Given the description of an element on the screen output the (x, y) to click on. 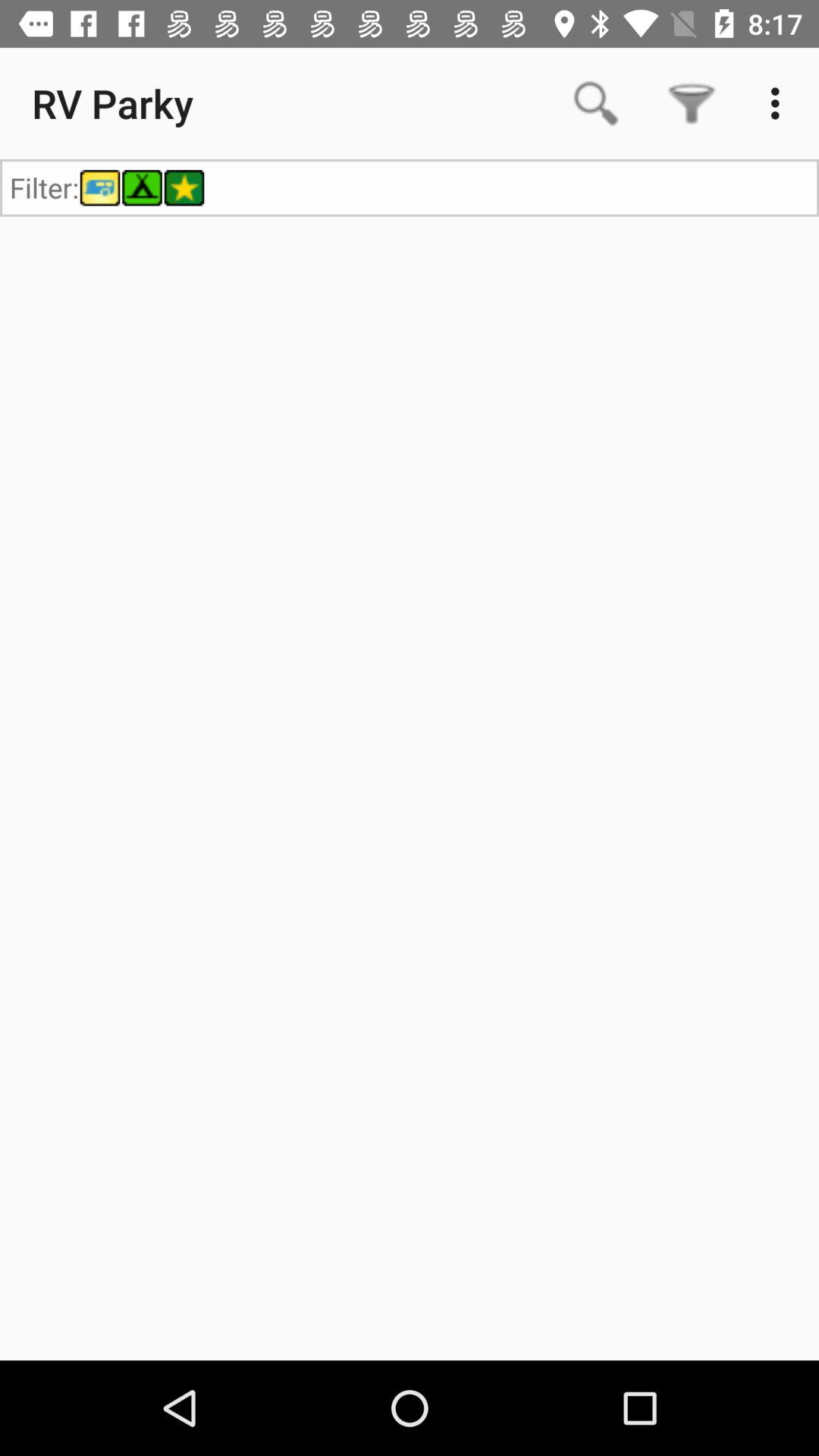
choose item at the center (409, 788)
